Given the description of an element on the screen output the (x, y) to click on. 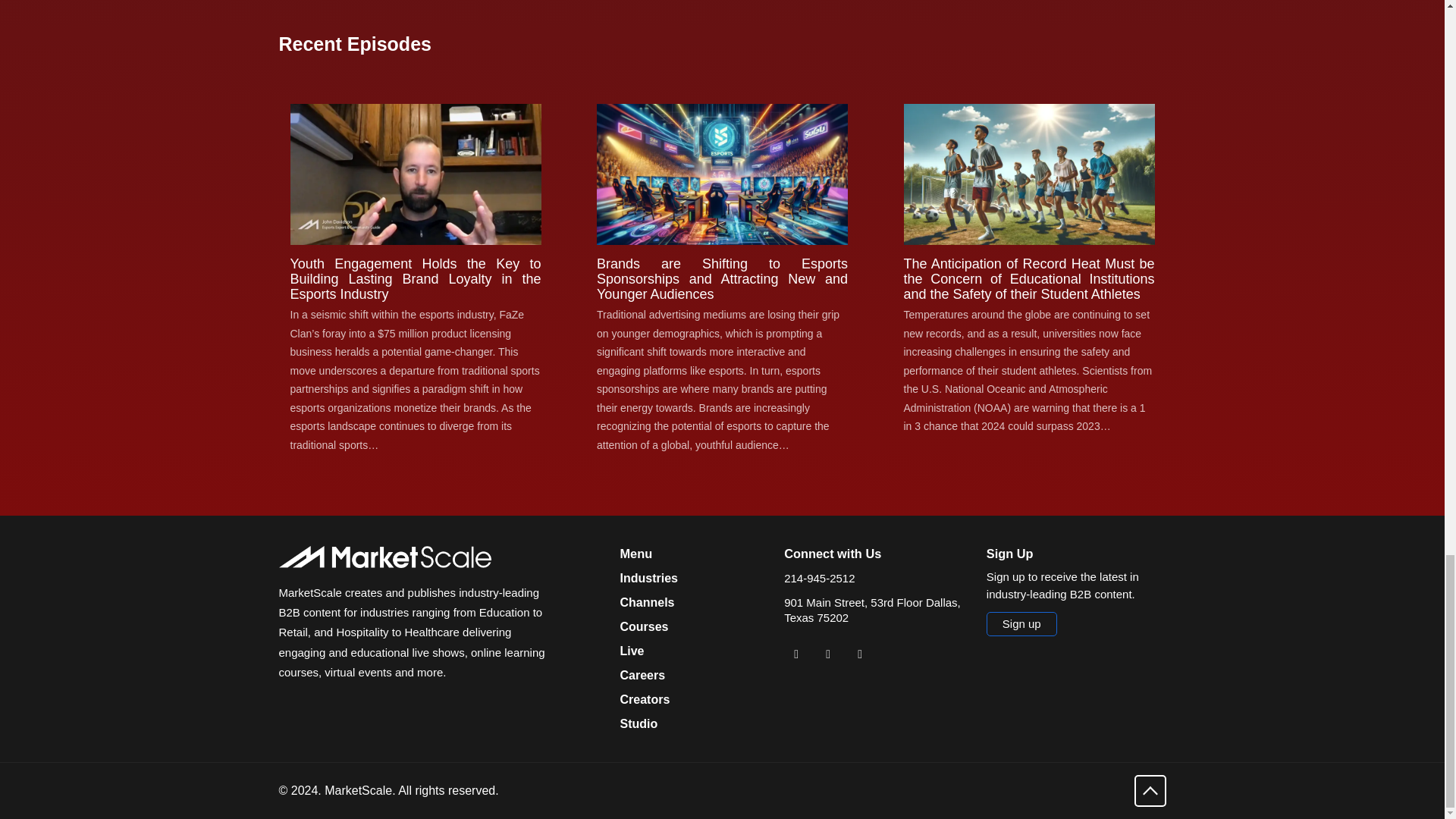
Share on Linkedin (796, 654)
Share on Instagram (859, 654)
Share on X (827, 654)
